Given the description of an element on the screen output the (x, y) to click on. 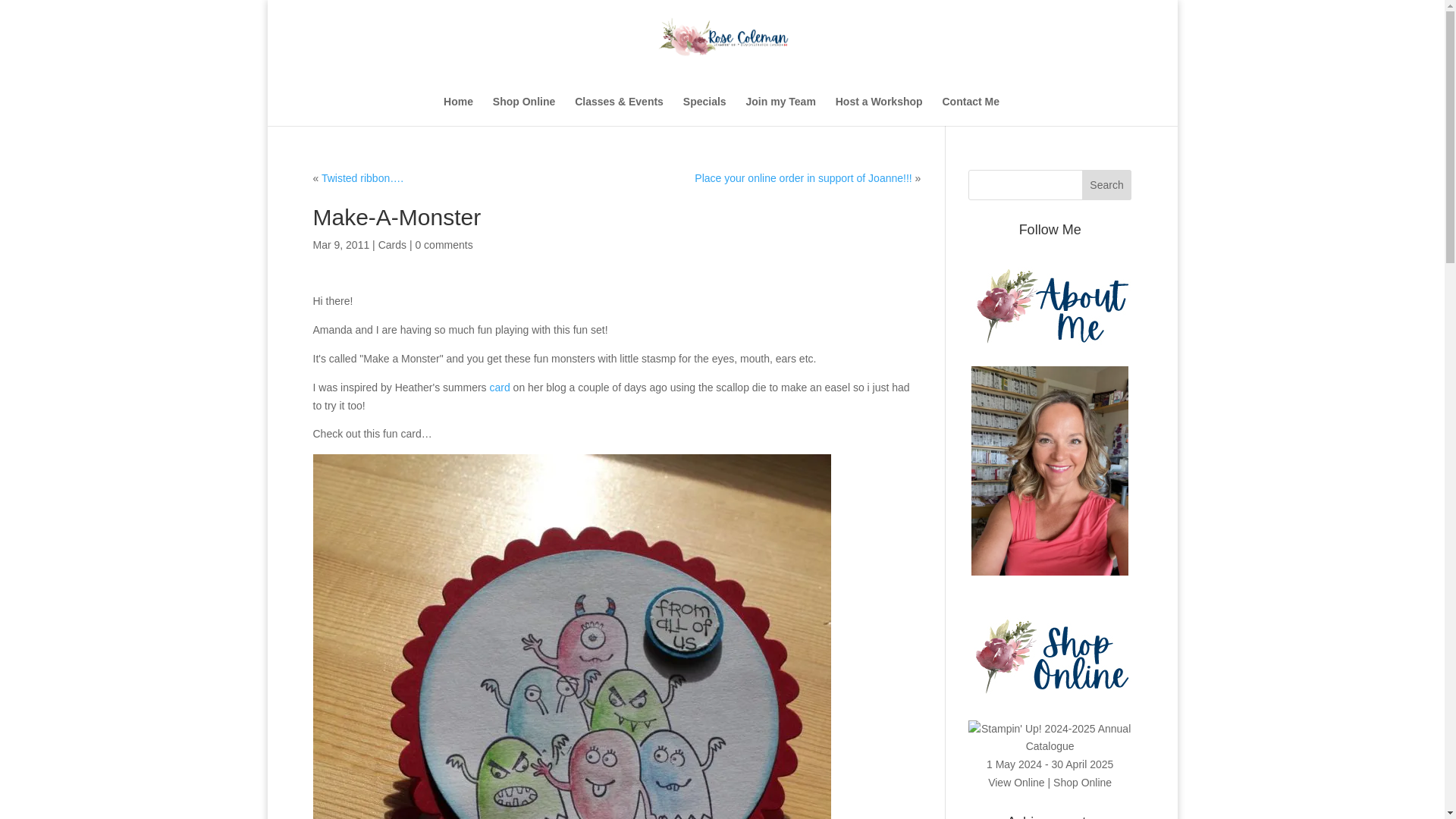
Specials (704, 111)
Search (1106, 184)
card (499, 387)
Home (458, 111)
Host a Workshop (879, 111)
Place your online order in support of Joanne!!! (802, 177)
Cards (392, 244)
0 comments (442, 244)
Join my Team (780, 111)
Shop Online (523, 111)
Contact Me (970, 111)
Search (1106, 184)
